Given the description of an element on the screen output the (x, y) to click on. 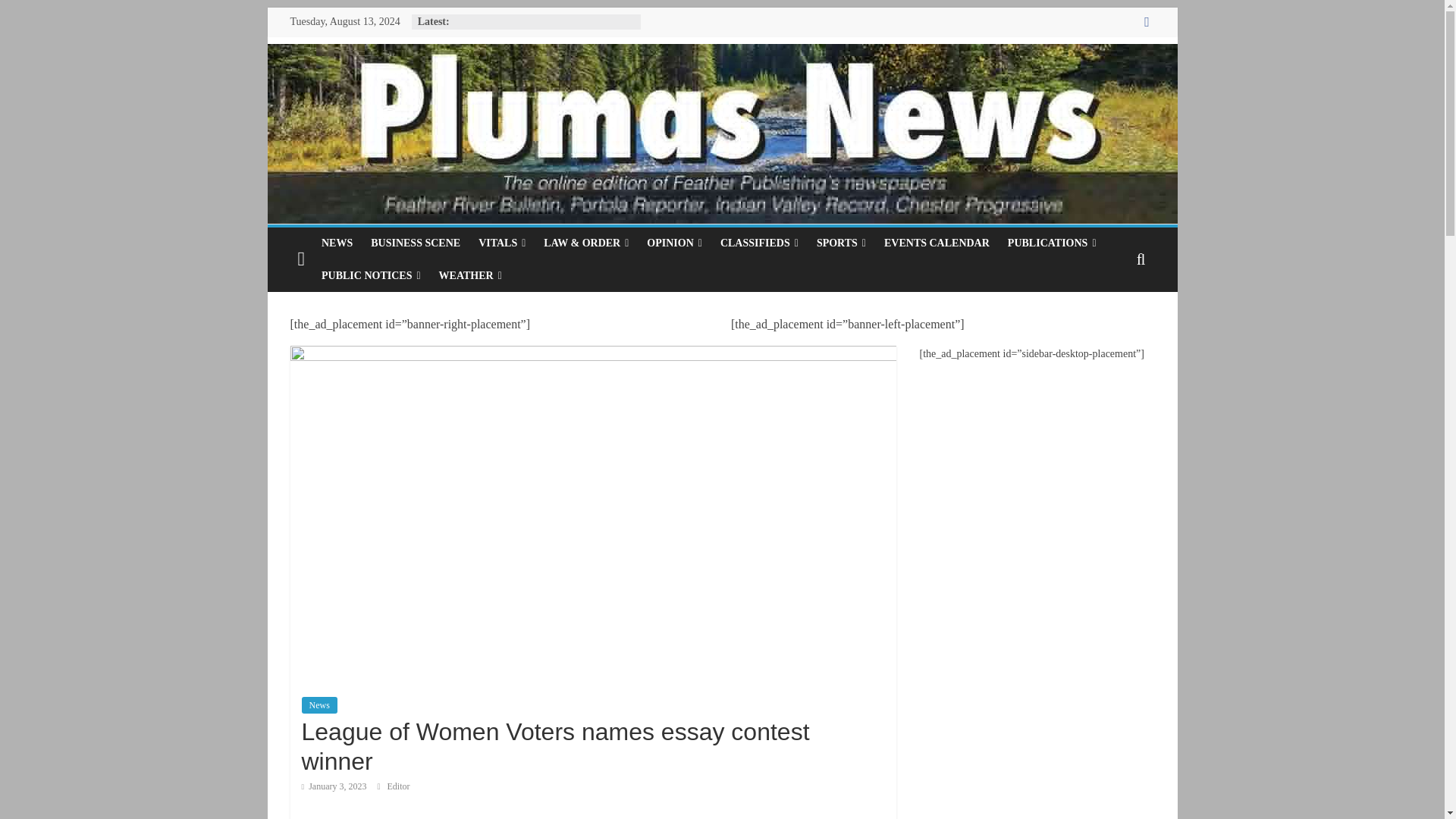
CLASSIFIEDS (759, 243)
BUSINESS SCENE (414, 243)
OPINION (674, 243)
SPORTS (841, 243)
EVENTS CALENDAR (936, 243)
PUBLICATIONS (1051, 243)
VITALS (501, 243)
Editor (398, 786)
7:58 am (333, 786)
